Given the description of an element on the screen output the (x, y) to click on. 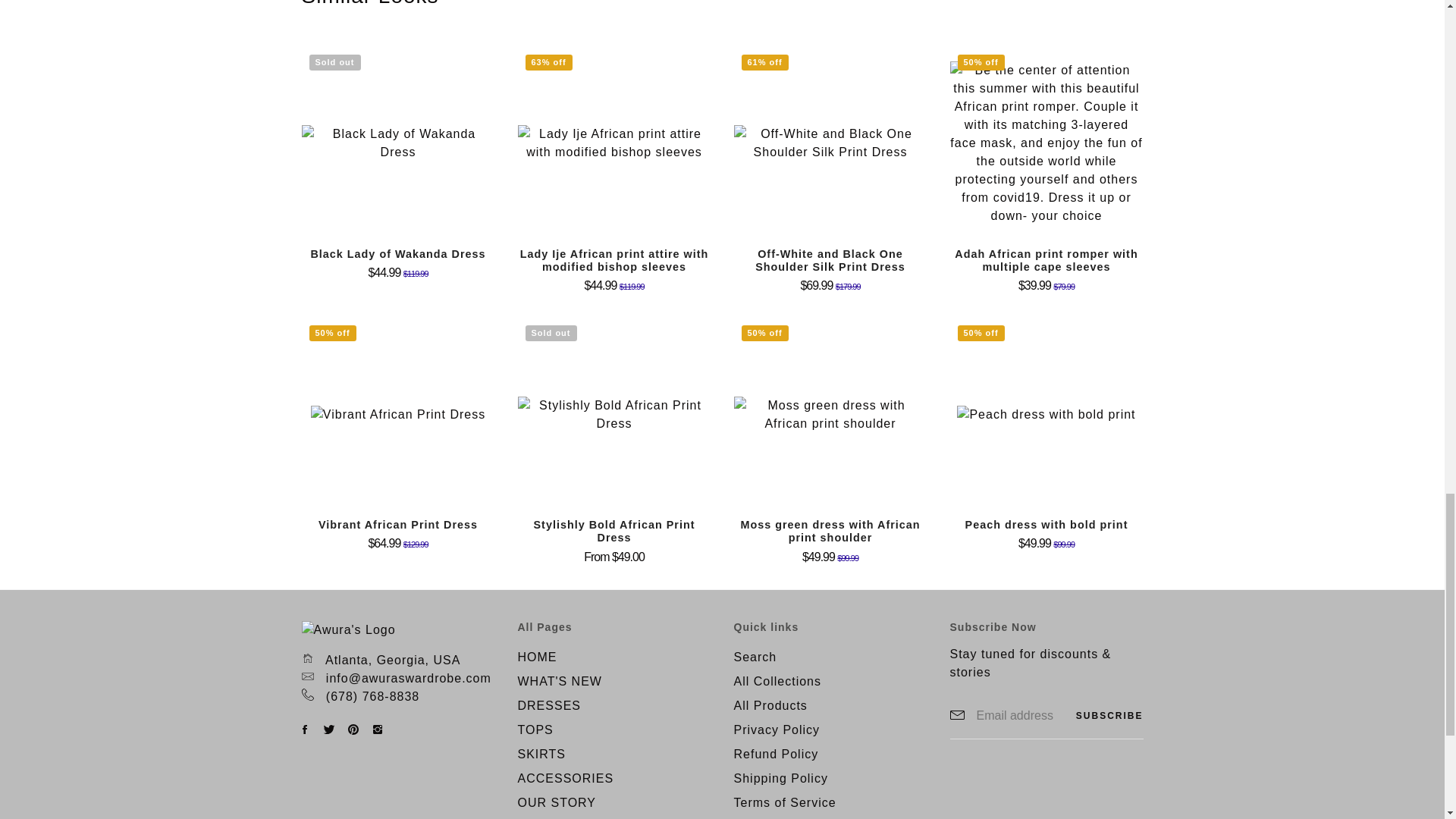
Moss green dress with African print shoulder (829, 530)
Vibrant African Print Dress (397, 524)
Black Lady of Wakanda Dress (397, 254)
Adah African print romper with multiple cape sleeves (1046, 260)
Lady Ije African print attire with modified bishop sleeves (614, 260)
Stylishly Bold African Print Dress (614, 530)
Off-White and Black One Shoulder Silk Print Dress (830, 260)
